Given the description of an element on the screen output the (x, y) to click on. 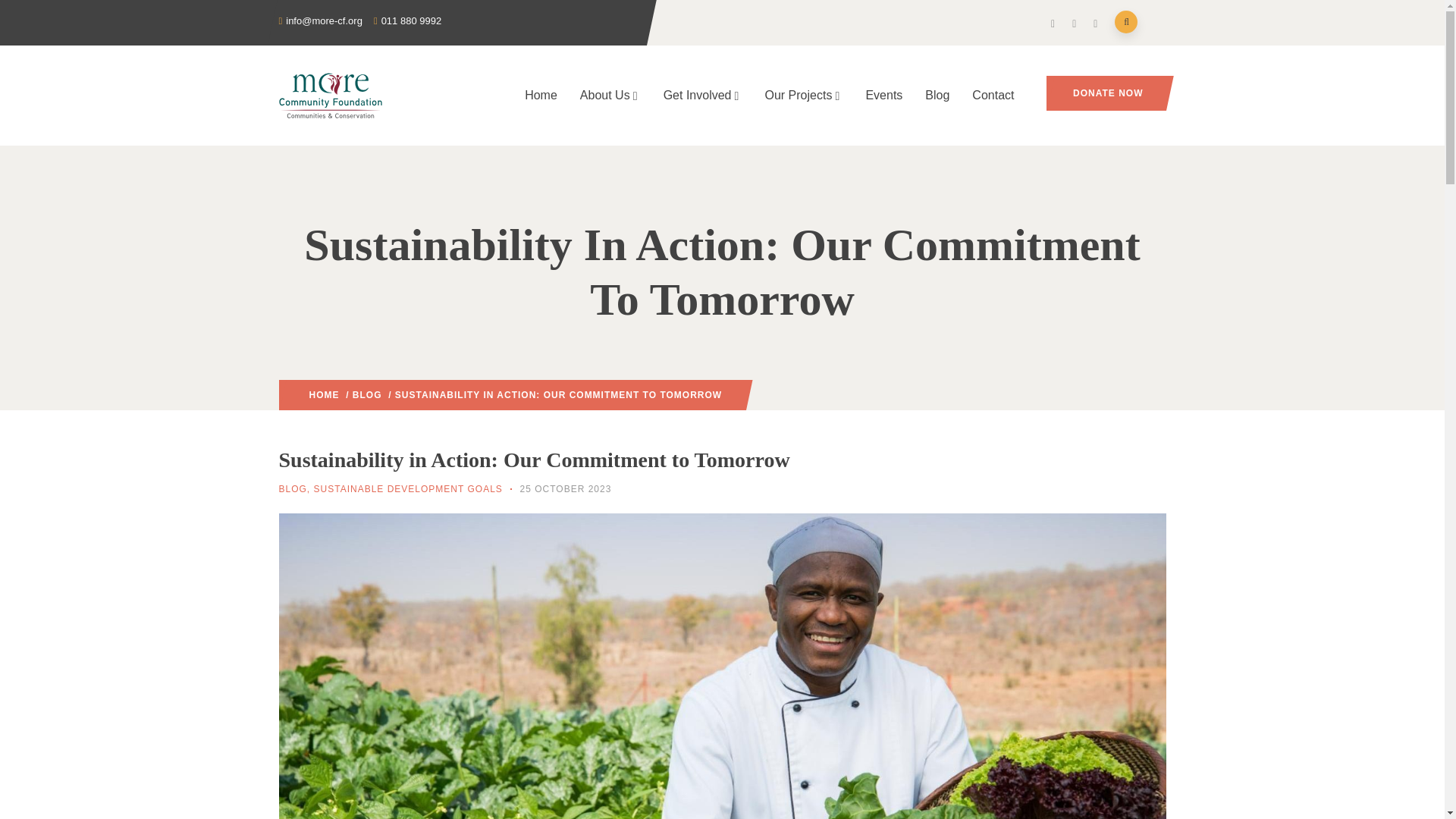
About Us (610, 95)
Home (541, 95)
